Given the description of an element on the screen output the (x, y) to click on. 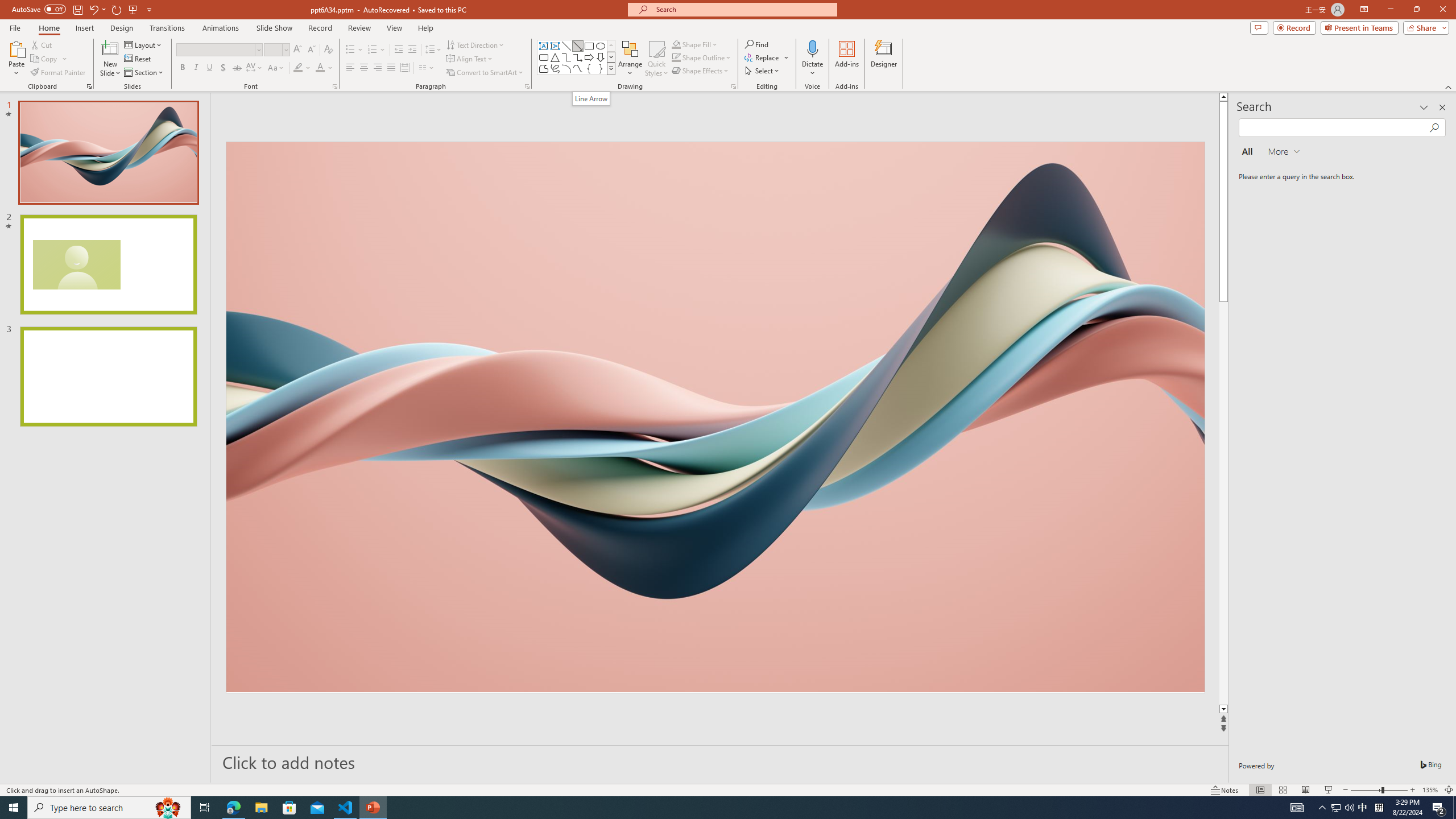
Copy (49, 58)
Freeform: Scribble (554, 68)
Rectangle (589, 45)
Format Painter (58, 72)
Curve (577, 68)
Arrow: Right (589, 57)
Class: MsoCommandBar (728, 789)
Columns (426, 67)
